Given the description of an element on the screen output the (x, y) to click on. 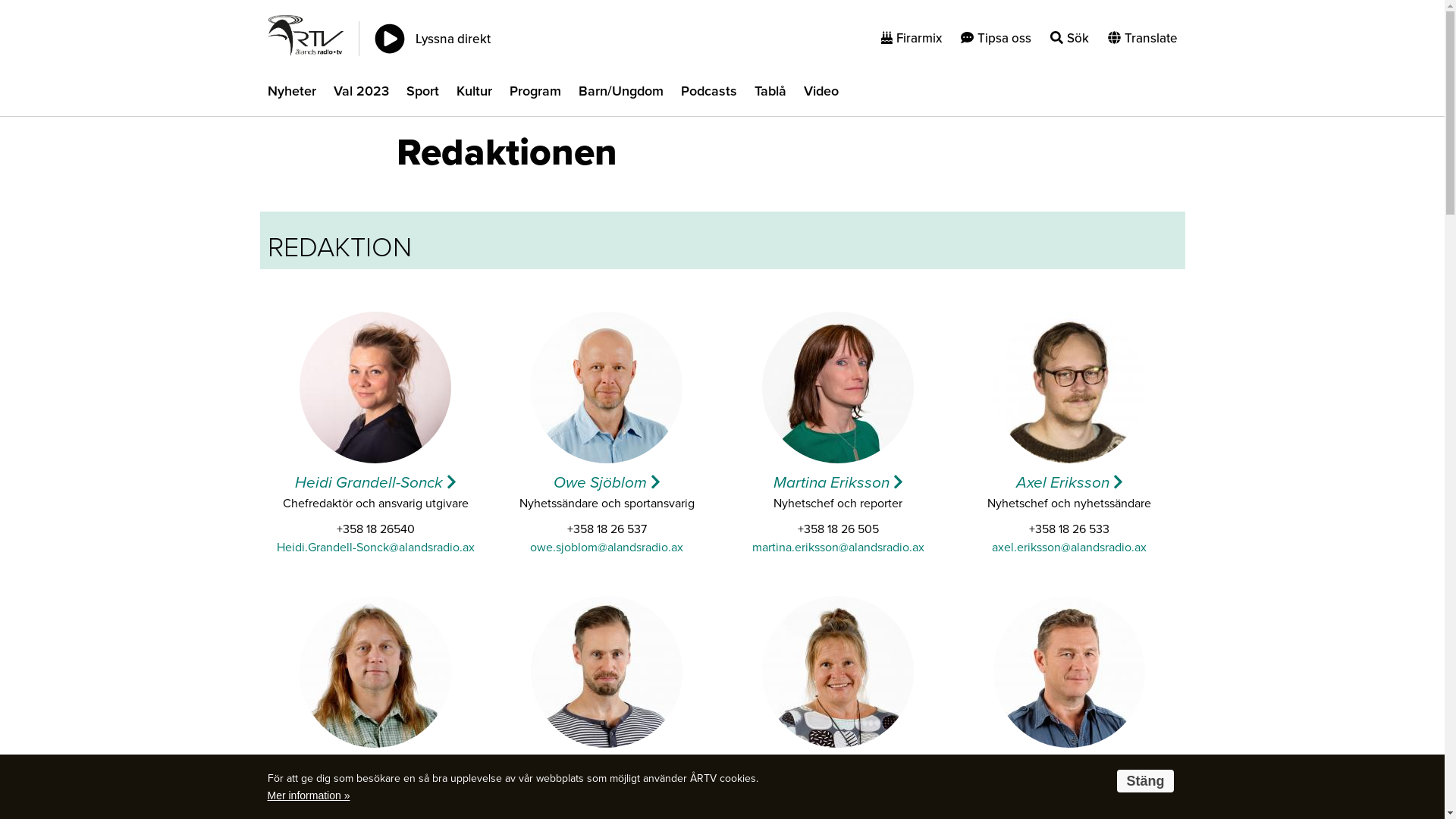
Firarmix Element type: text (911, 38)
Heidi Grandell-Sonck Element type: text (374, 482)
martina.eriksson@alandsradio.ax Element type: text (838, 547)
owe.sjoblom@alandsradio.ax Element type: text (606, 547)
Martina Eriksson Element type: text (838, 482)
Val 2023 Element type: text (361, 92)
Tomas Tornefjell Element type: text (374, 766)
Barn/Ungdom Element type: text (619, 92)
Video Element type: text (820, 92)
Sport Element type: text (422, 92)
Nyheter Element type: text (290, 92)
Axel Eriksson Element type: text (1069, 482)
Tipsa oss Element type: text (995, 38)
Hasse Persson-Bru Element type: text (606, 766)
Podcasts Element type: text (708, 92)
axel.eriksson@alandsradio.ax Element type: text (1068, 547)
Lyssna direkt Element type: text (432, 38)
Heidi.Grandell-Sonck@alandsradio.ax Element type: text (374, 547)
Kultur Element type: text (474, 92)
Program Element type: text (535, 92)
